Given the description of an element on the screen output the (x, y) to click on. 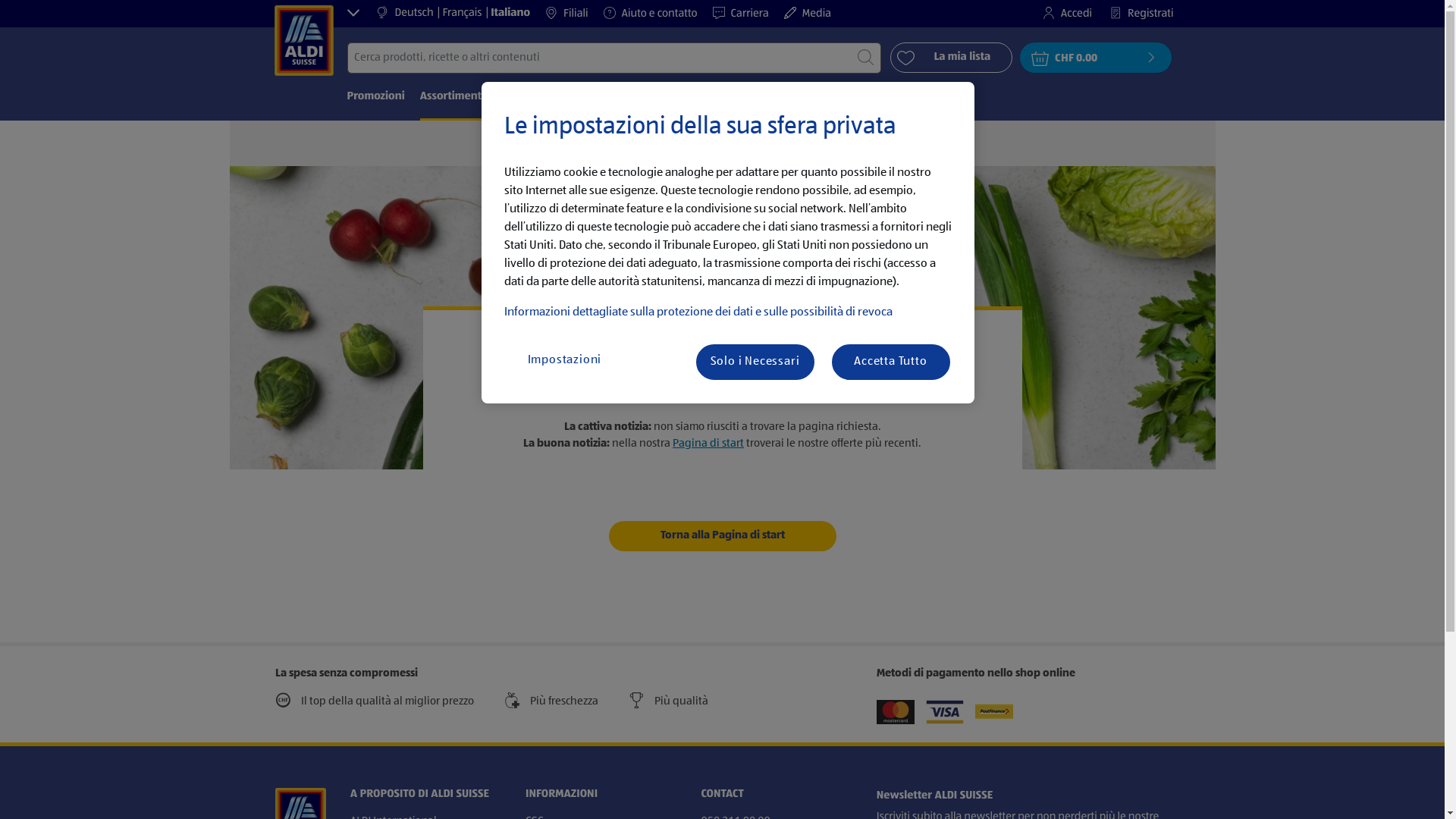
Accedi Element type: text (1059, 13)
Torna alla Pagina di start Element type: text (721, 535)
Registrati Element type: text (1133, 13)
Submit search Element type: text (865, 57)
Filiali Element type: text (573, 13)
Italiano Element type: text (510, 14)
Carriera Element type: text (748, 13)
Aiuto e contatto Element type: text (657, 13)
CHF 0.00 Element type: text (1095, 57)
ALDI SUISSE AG Element type: hover (303, 37)
Pagina di start Element type: text (707, 442)
Shop Online Element type: text (533, 96)
La mia lista Element type: text (951, 57)
Promozioni Element type: text (375, 96)
Ricette Element type: text (675, 96)
Media Element type: text (815, 13)
0 Element type: text (16, 10)
Azienda Element type: text (777, 96)
Servizi Element type: text (725, 96)
Deutsch Element type: text (416, 13)
Assortimento Element type: text (454, 96)
